Given the description of an element on the screen output the (x, y) to click on. 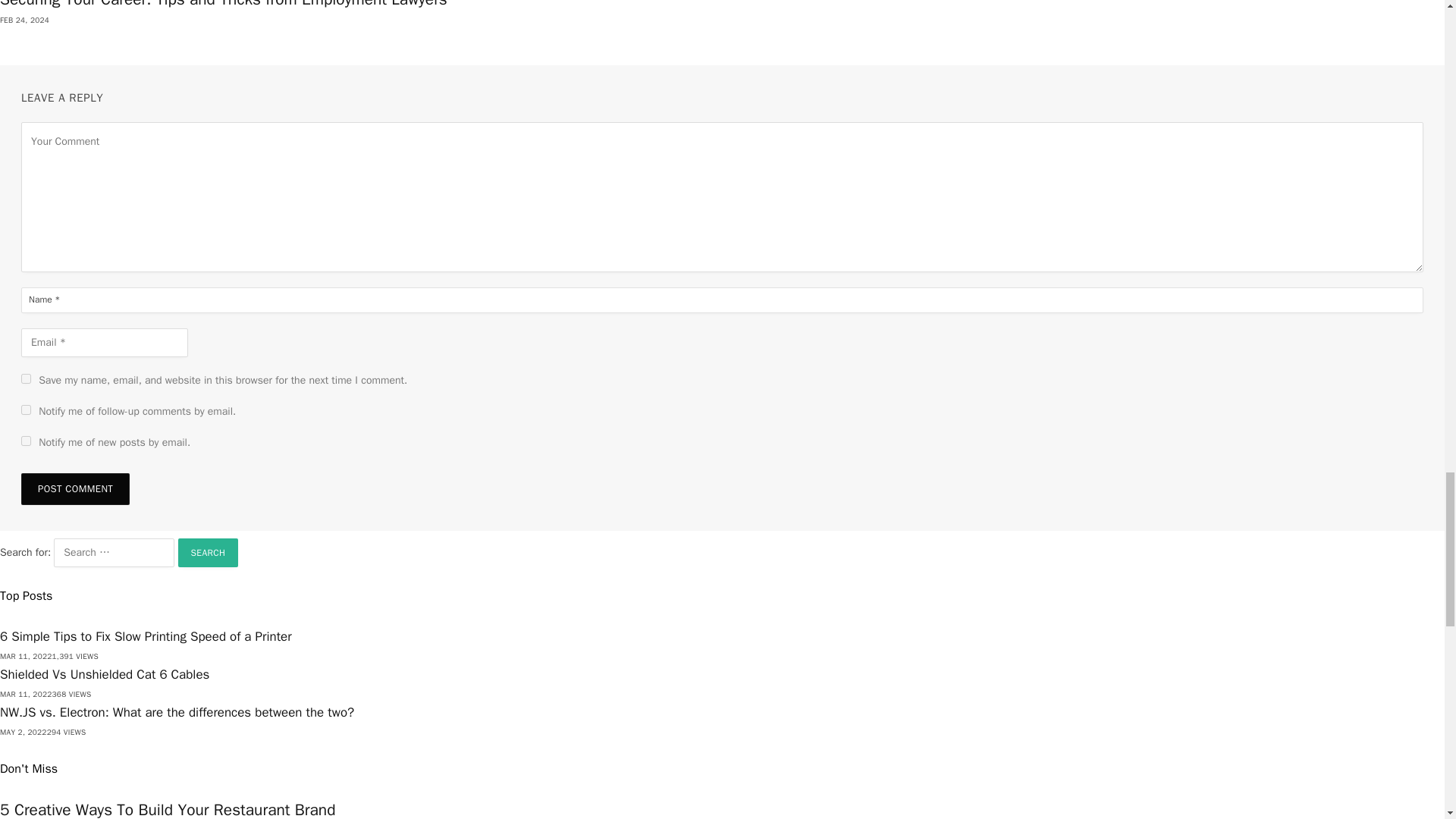
Search (207, 552)
Post Comment (75, 489)
Search (207, 552)
subscribe (25, 440)
subscribe (25, 409)
yes (25, 378)
